Given the description of an element on the screen output the (x, y) to click on. 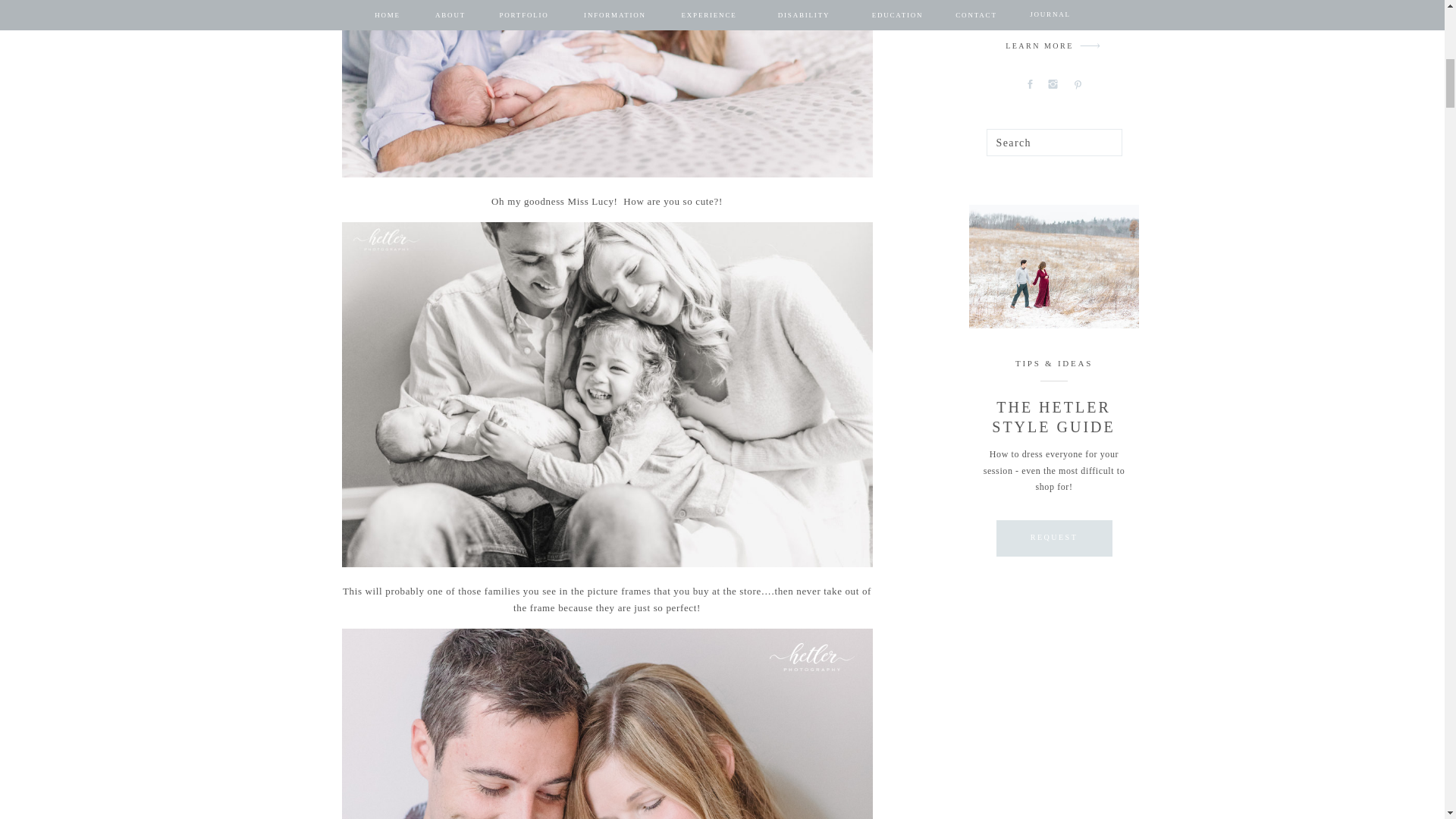
arrow (1089, 45)
